Given the description of an element on the screen output the (x, y) to click on. 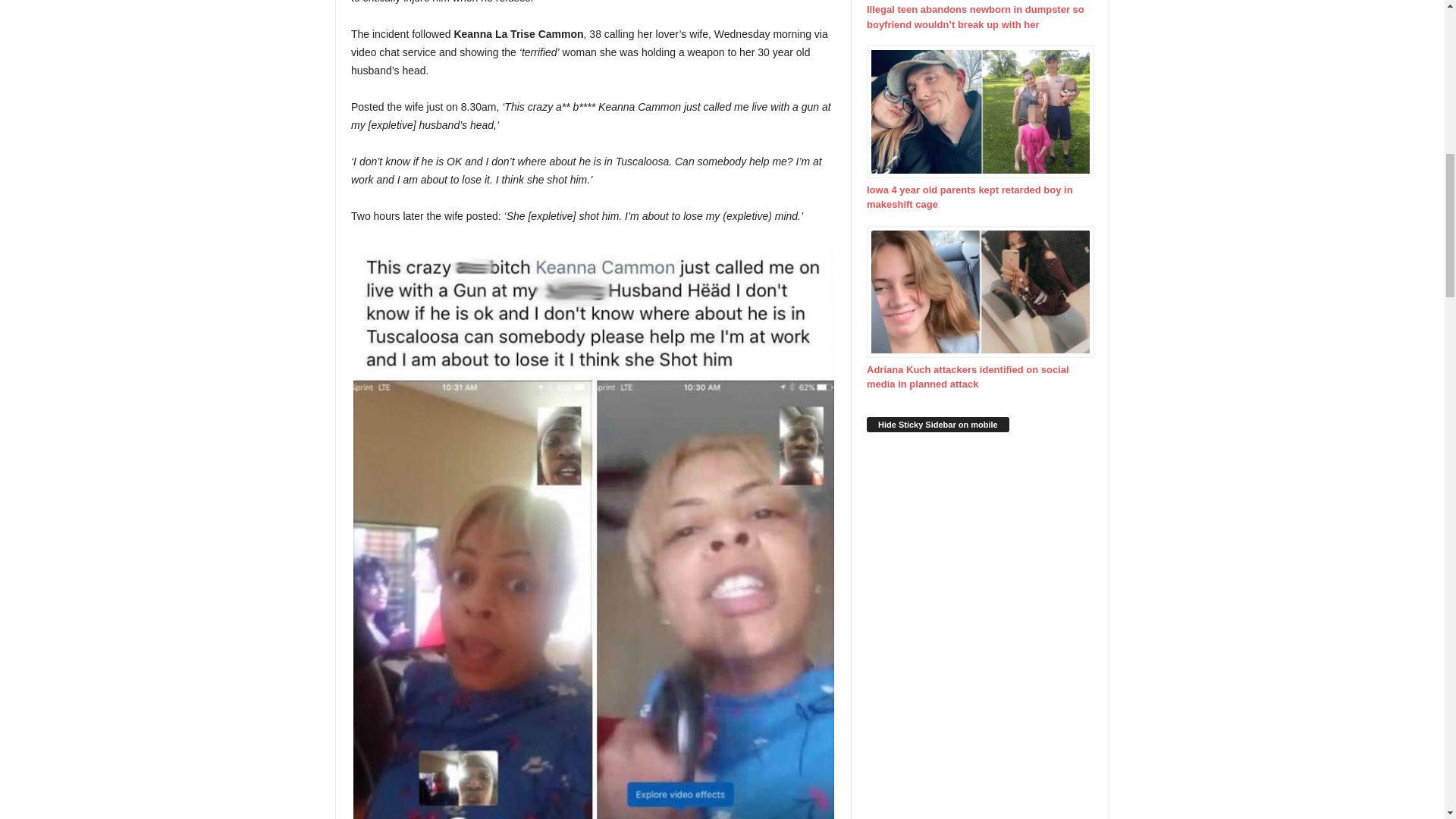
Iowa 4 year old parents kept retarded boy in makeshift cage (980, 128)
